Given the description of an element on the screen output the (x, y) to click on. 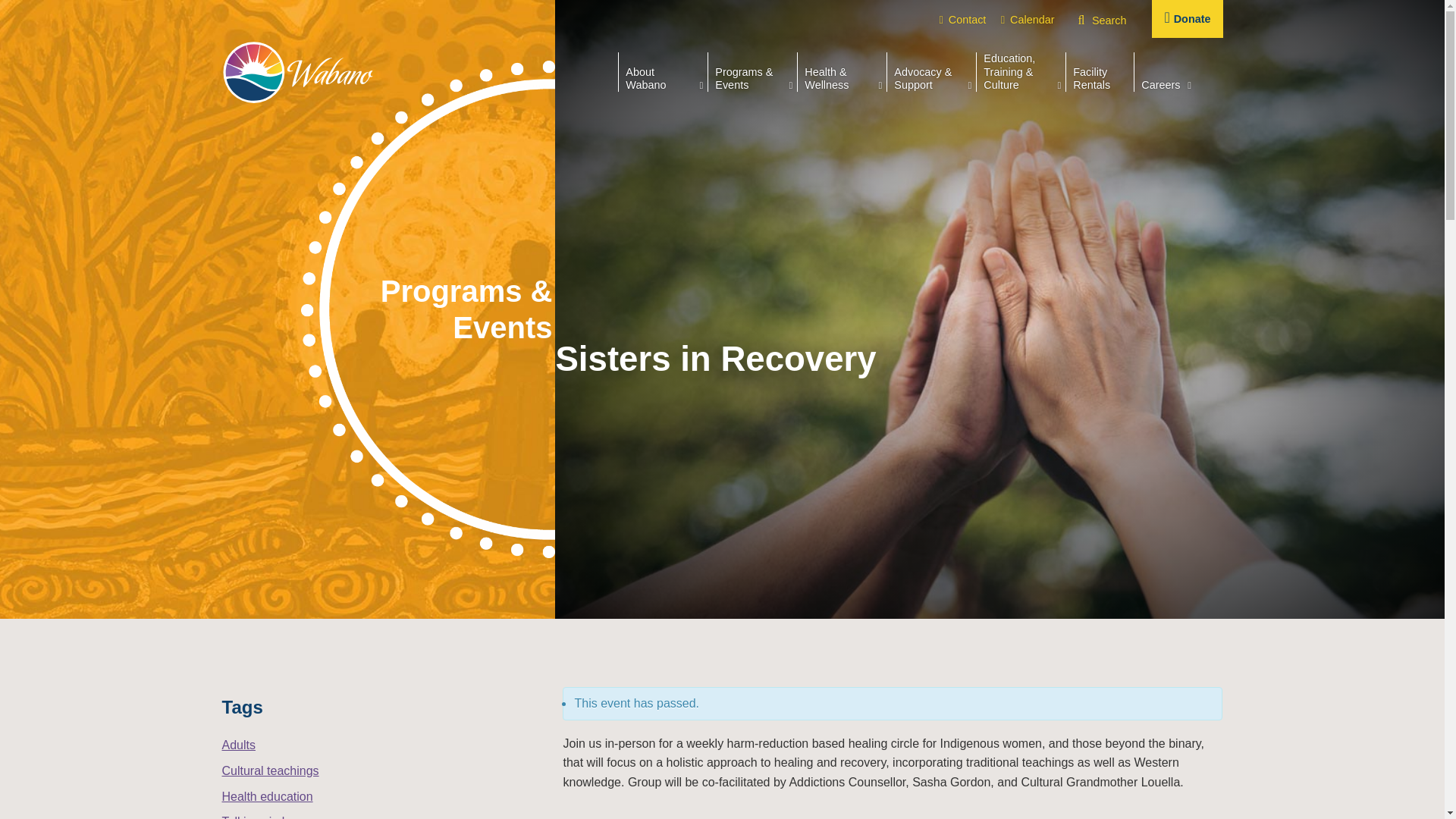
More on Talking circle (256, 816)
Wabano Centre (296, 72)
Donate (1187, 18)
About Wabano (662, 77)
More on Health education (267, 796)
More on Cultural teachings (269, 770)
Calendar (1027, 19)
More on Adults (237, 744)
Contact (962, 19)
